Given the description of an element on the screen output the (x, y) to click on. 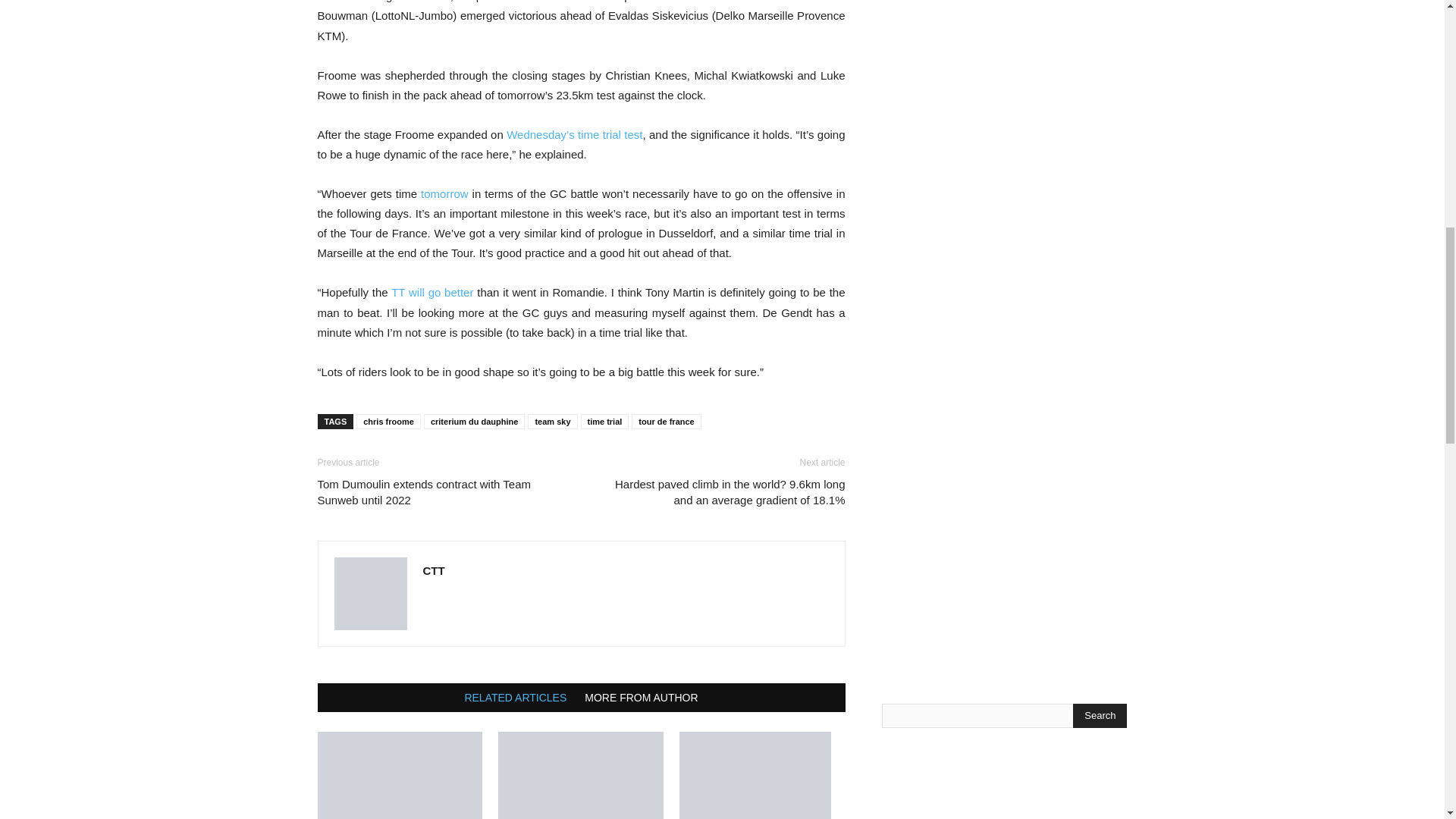
Jerome Pineau: Armstrong was the epitome of arrogance (761, 775)
Search (1099, 715)
tomorrow (445, 193)
TT will go better (432, 291)
Jerome Pineau: Armstrong was the epitome of arrogance (755, 775)
